Given the description of an element on the screen output the (x, y) to click on. 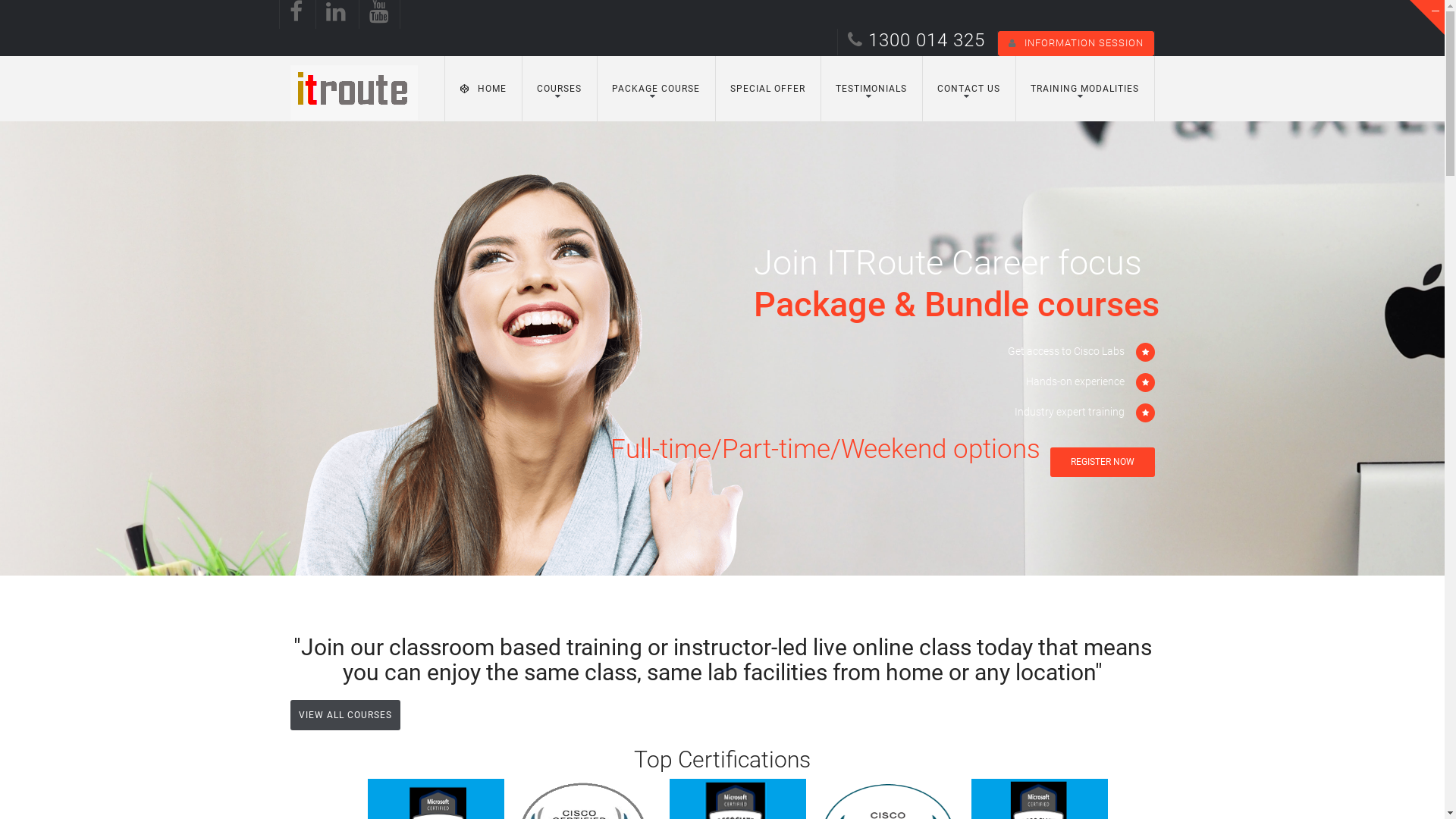
CONTACT US Element type: text (968, 88)
REGISTER NOW Element type: text (1102, 461)
SPECIAL OFFER Element type: text (766, 88)
HOME Element type: text (482, 88)
TESTIMONIALS Element type: text (871, 88)
PACKAGE COURSE Element type: text (655, 88)
VIEW ALL COURSES Element type: text (344, 714)
COURSES Element type: text (558, 88)
1300 014 325 Element type: text (915, 43)
INFORMATION SESSION Element type: text (1075, 43)
TRAINING MODALITIES Element type: text (1083, 88)
